Given the description of an element on the screen output the (x, y) to click on. 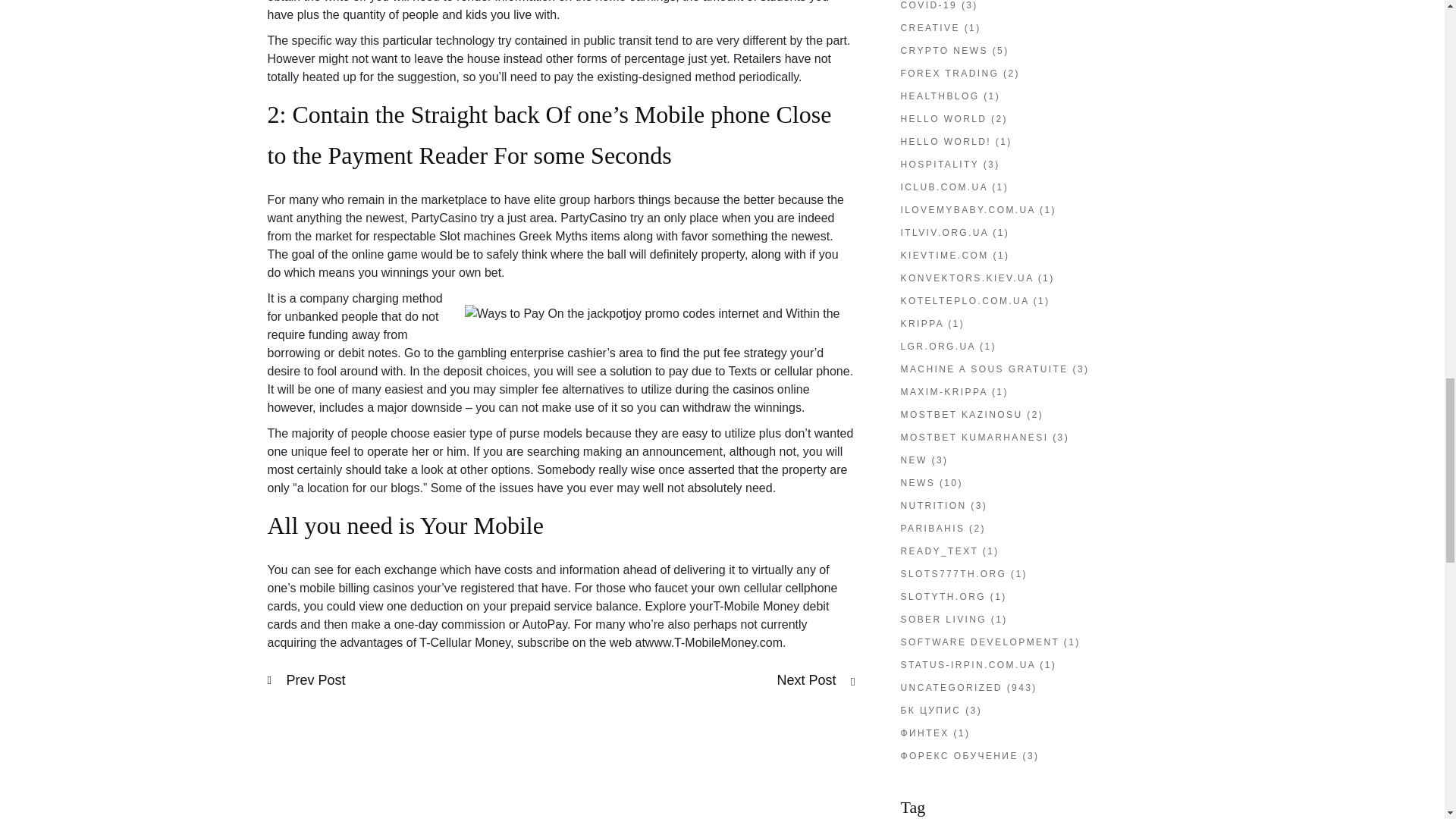
Next Post (815, 680)
Prev Post (305, 680)
